Given the description of an element on the screen output the (x, y) to click on. 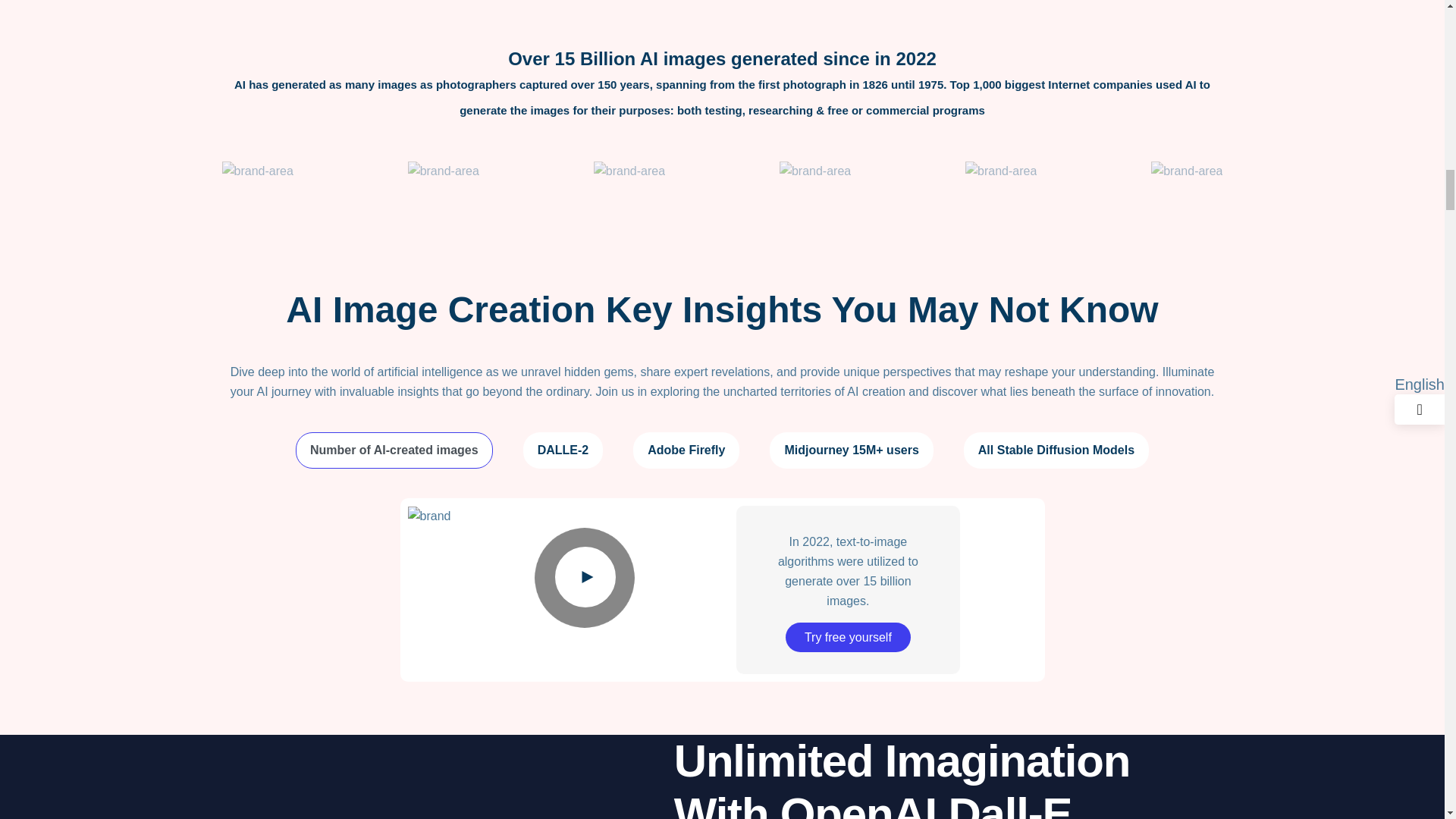
Adobe Firefly (686, 450)
Number of AI-created images (394, 450)
DALLE-2 (563, 450)
